Given the description of an element on the screen output the (x, y) to click on. 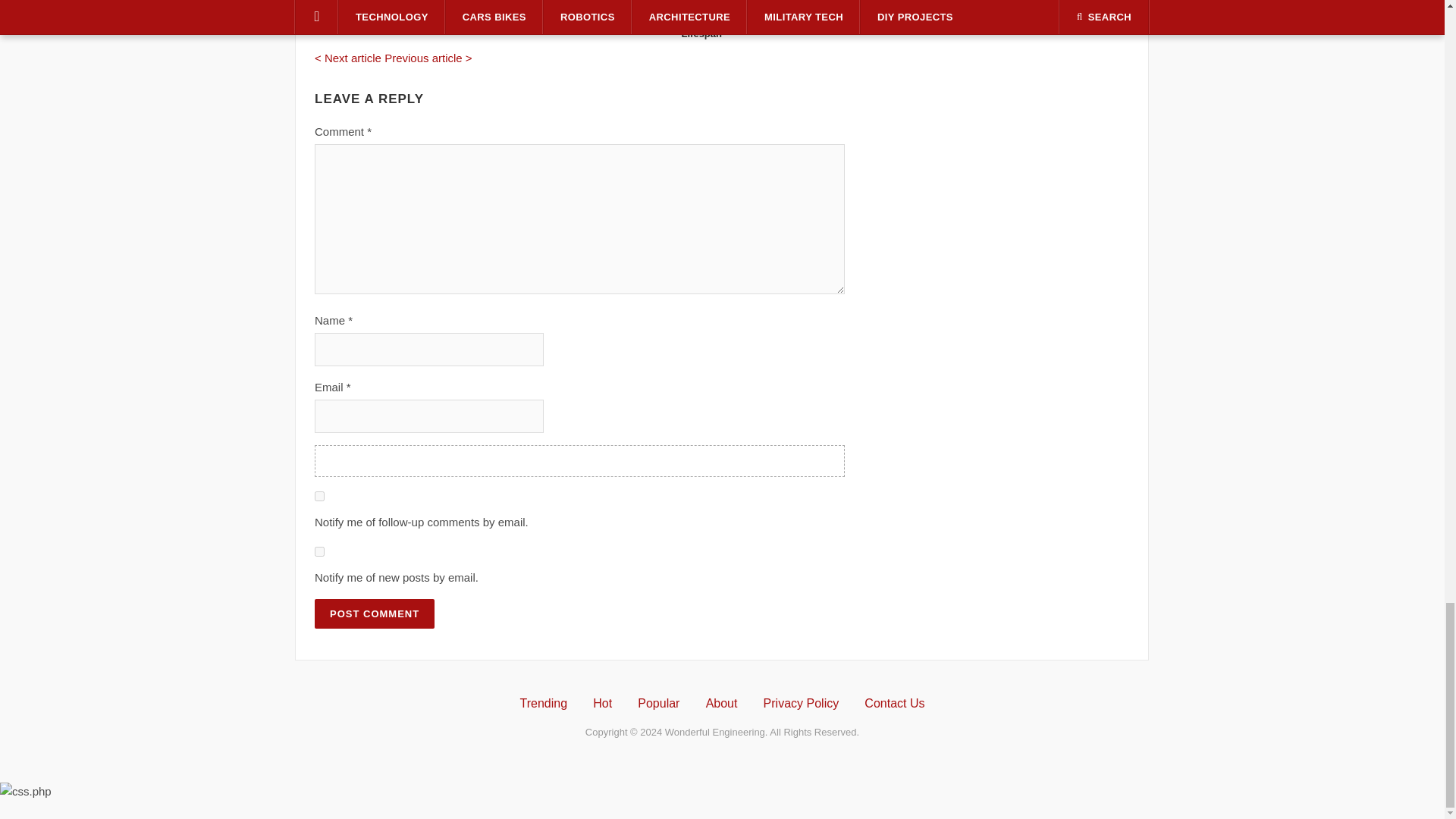
subscribe (319, 551)
Post Comment (373, 613)
subscribe (319, 496)
